Given the description of an element on the screen output the (x, y) to click on. 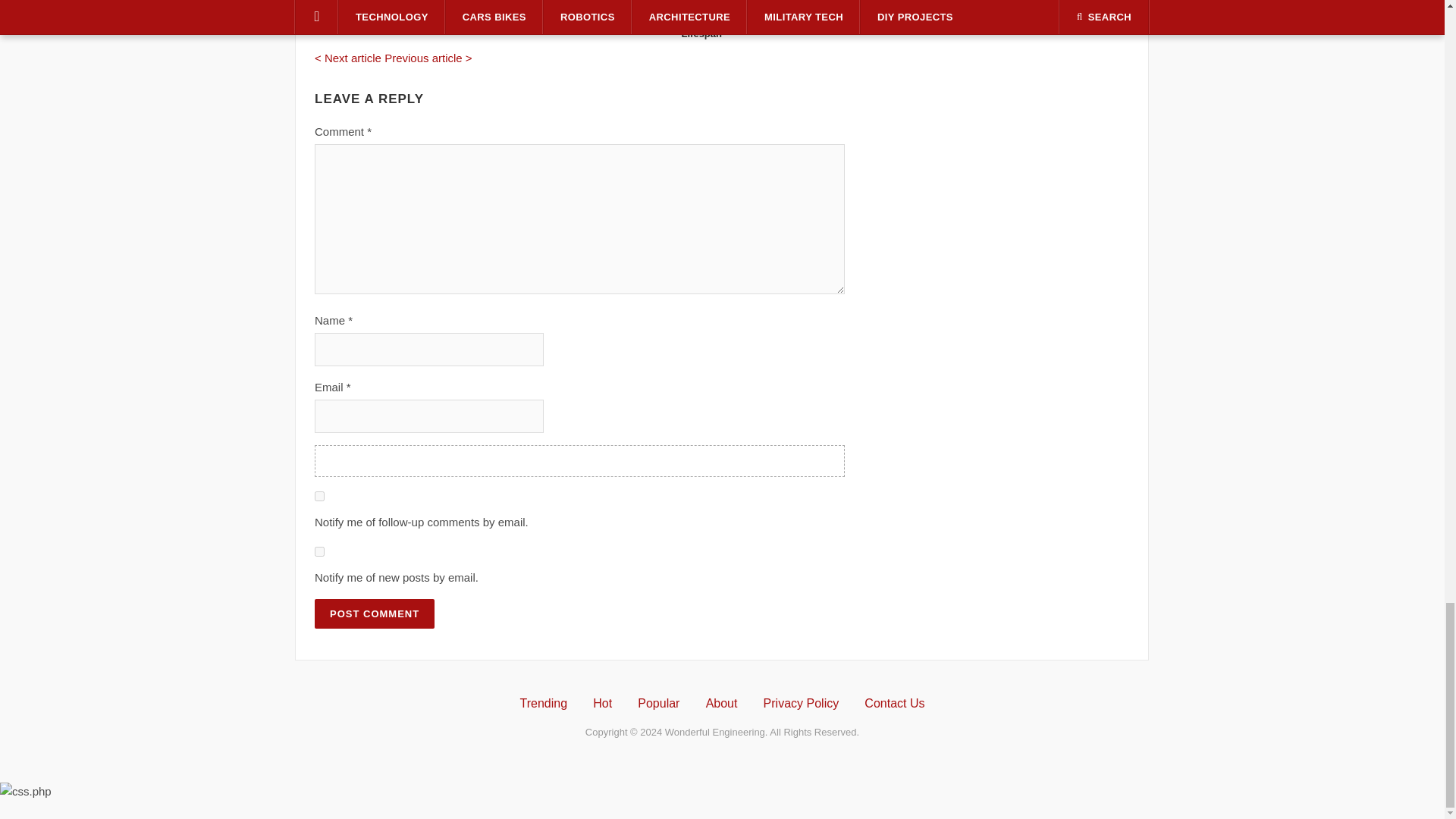
subscribe (319, 551)
Post Comment (373, 613)
subscribe (319, 496)
